Given the description of an element on the screen output the (x, y) to click on. 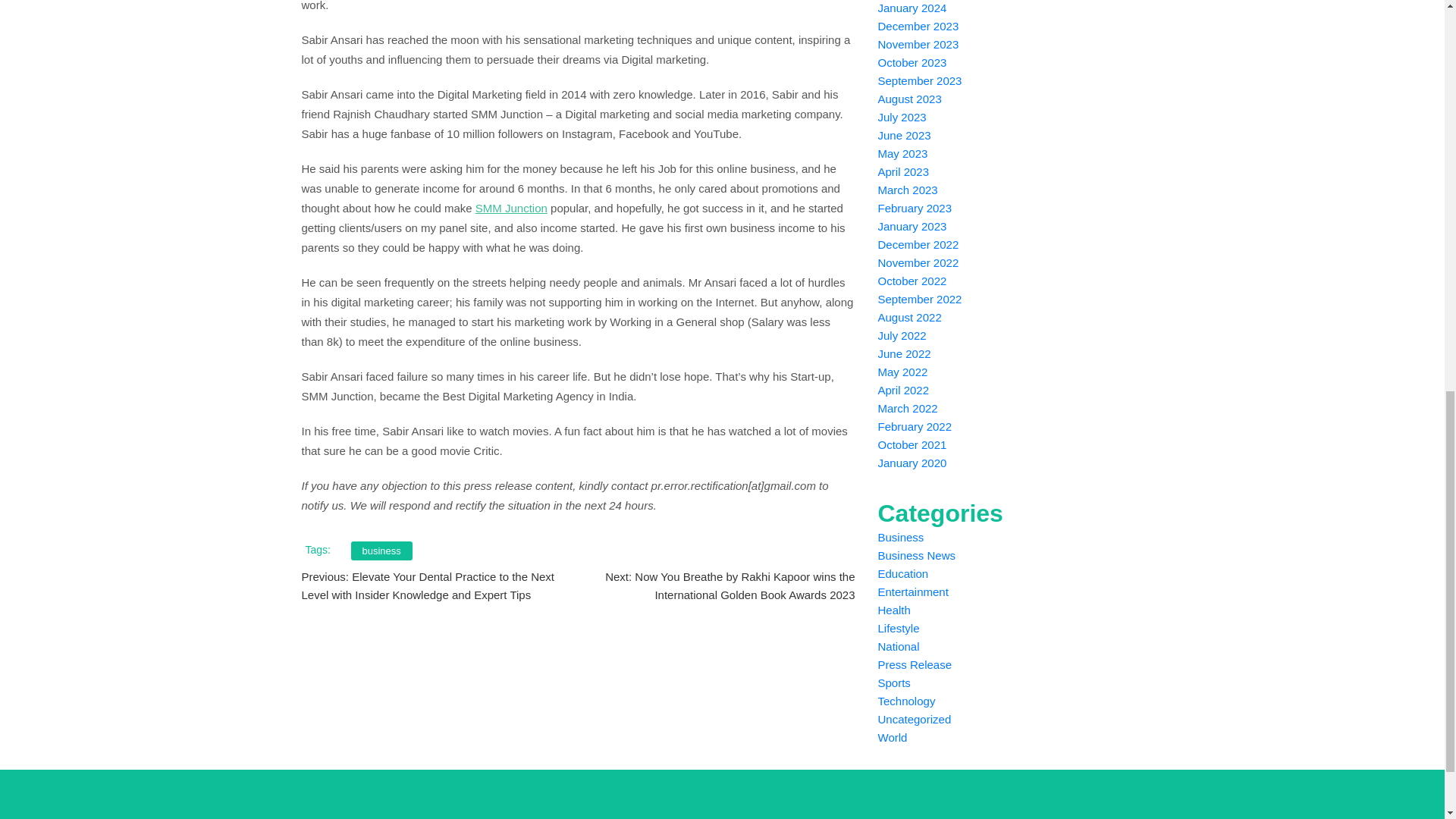
SMM Junction (511, 207)
business (381, 550)
